Given the description of an element on the screen output the (x, y) to click on. 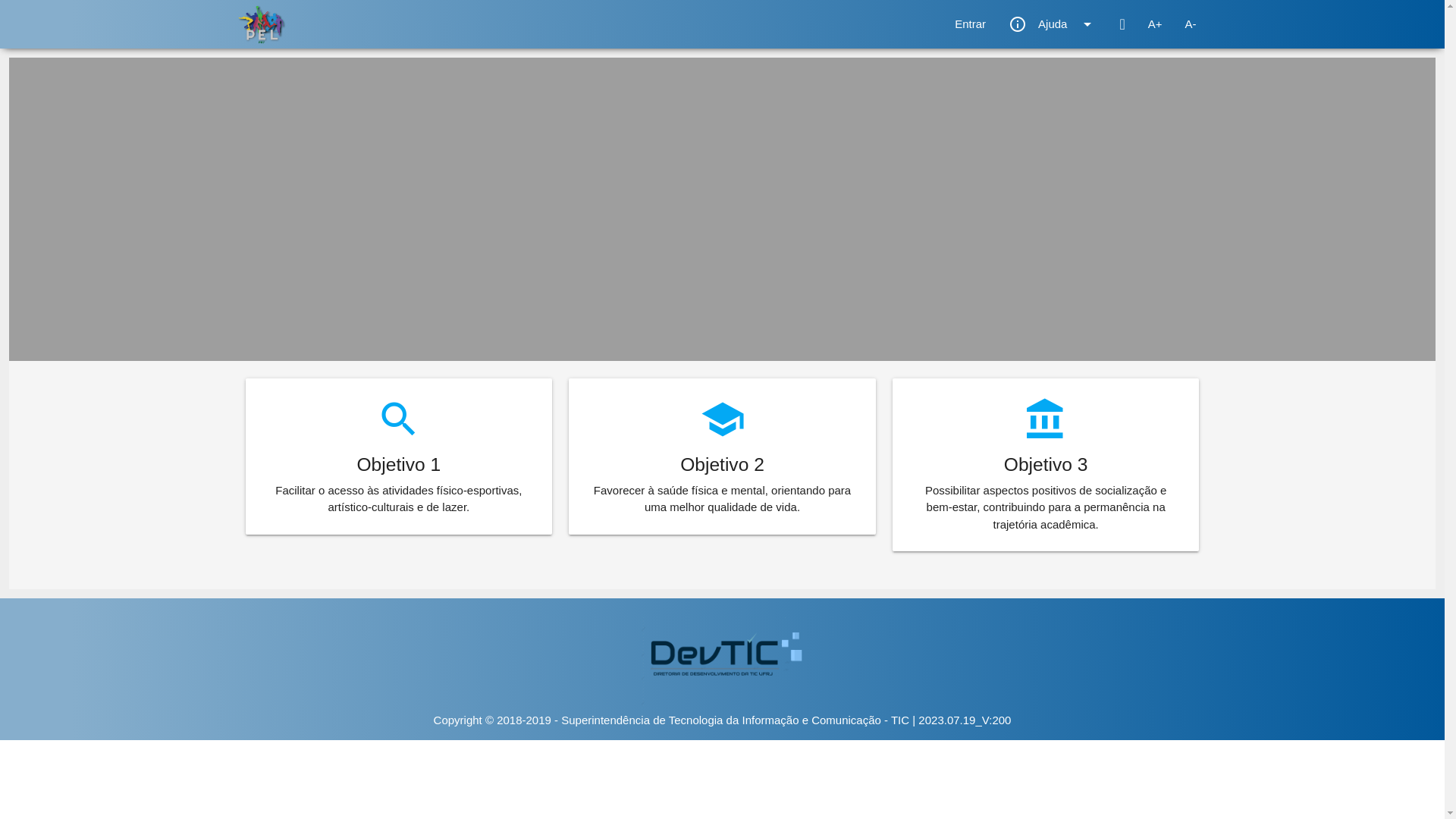
A- Element type: text (1190, 24)
info_outline
Ajuda
arrow_drop_down Element type: text (1052, 24)
A+ Element type: text (1154, 24)
Entrar Element type: text (970, 24)
